Given the description of an element on the screen output the (x, y) to click on. 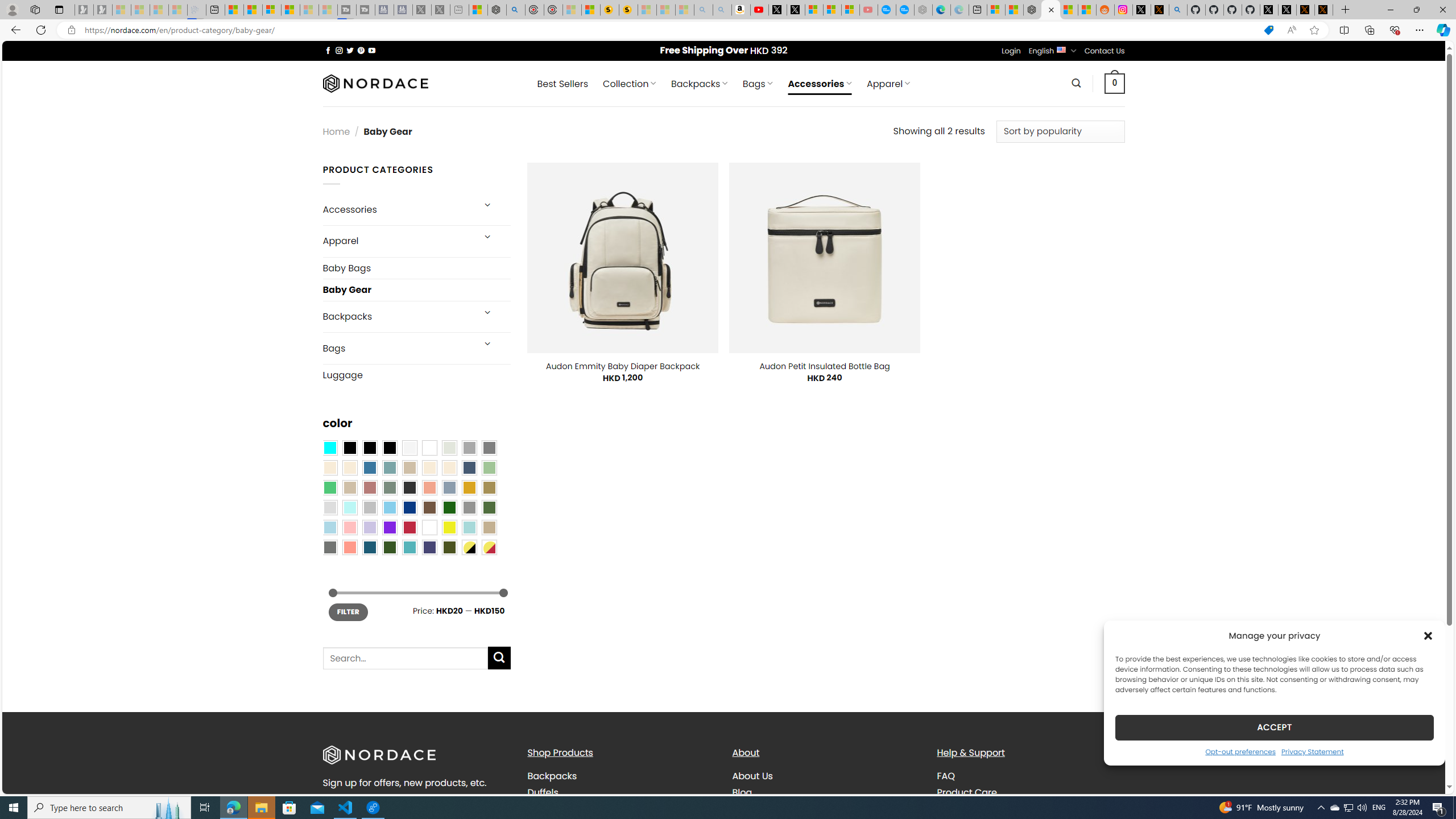
Accessories (397, 209)
Audon Petit Insulated Bottle Bag (823, 365)
Ash Gray (449, 447)
Nordace - Nordace has arrived Hong Kong - Sleeping (923, 9)
Day 1: Arriving in Yemen (surreal to be here) - YouTube (759, 9)
Rose (369, 487)
amazon - Search - Sleeping (702, 9)
All Black (349, 447)
